Given the description of an element on the screen output the (x, y) to click on. 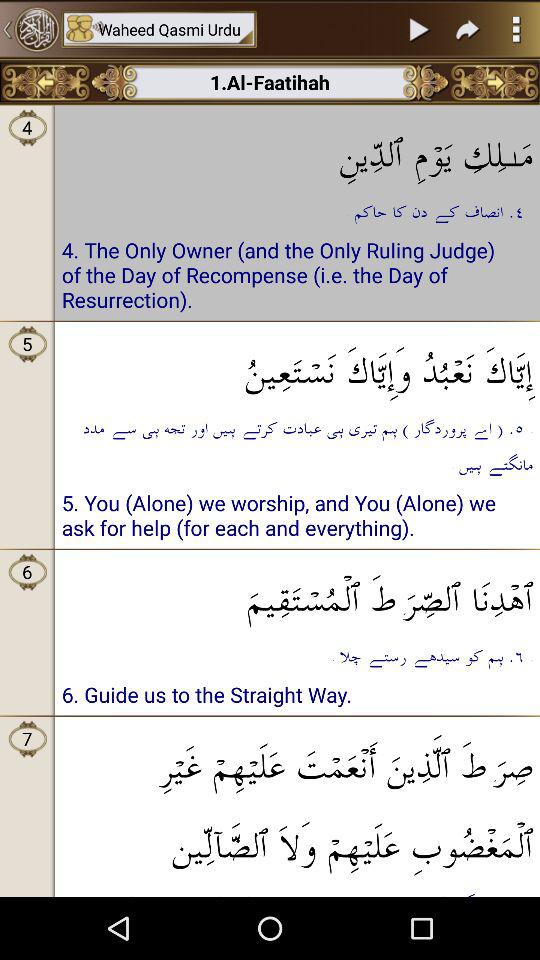
forward (468, 29)
